Given the description of an element on the screen output the (x, y) to click on. 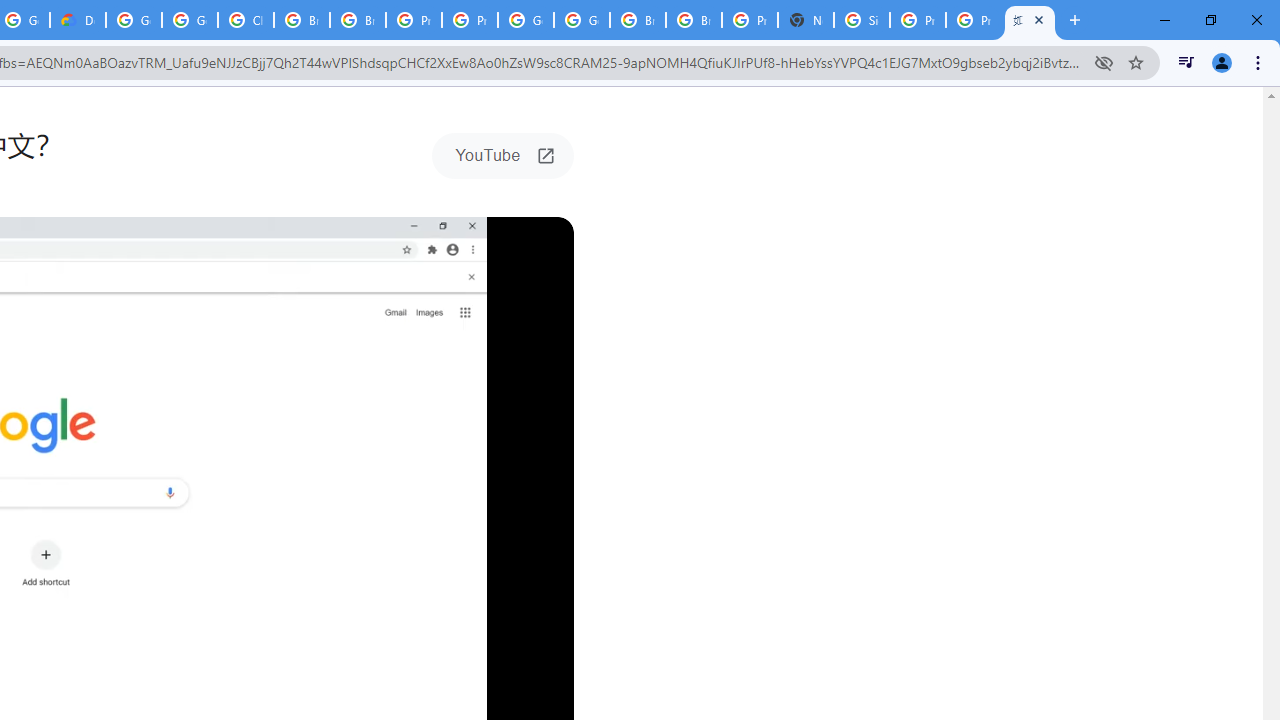
Sign in - Google Accounts (861, 20)
Google Cloud Platform (525, 20)
